Given the description of an element on the screen output the (x, y) to click on. 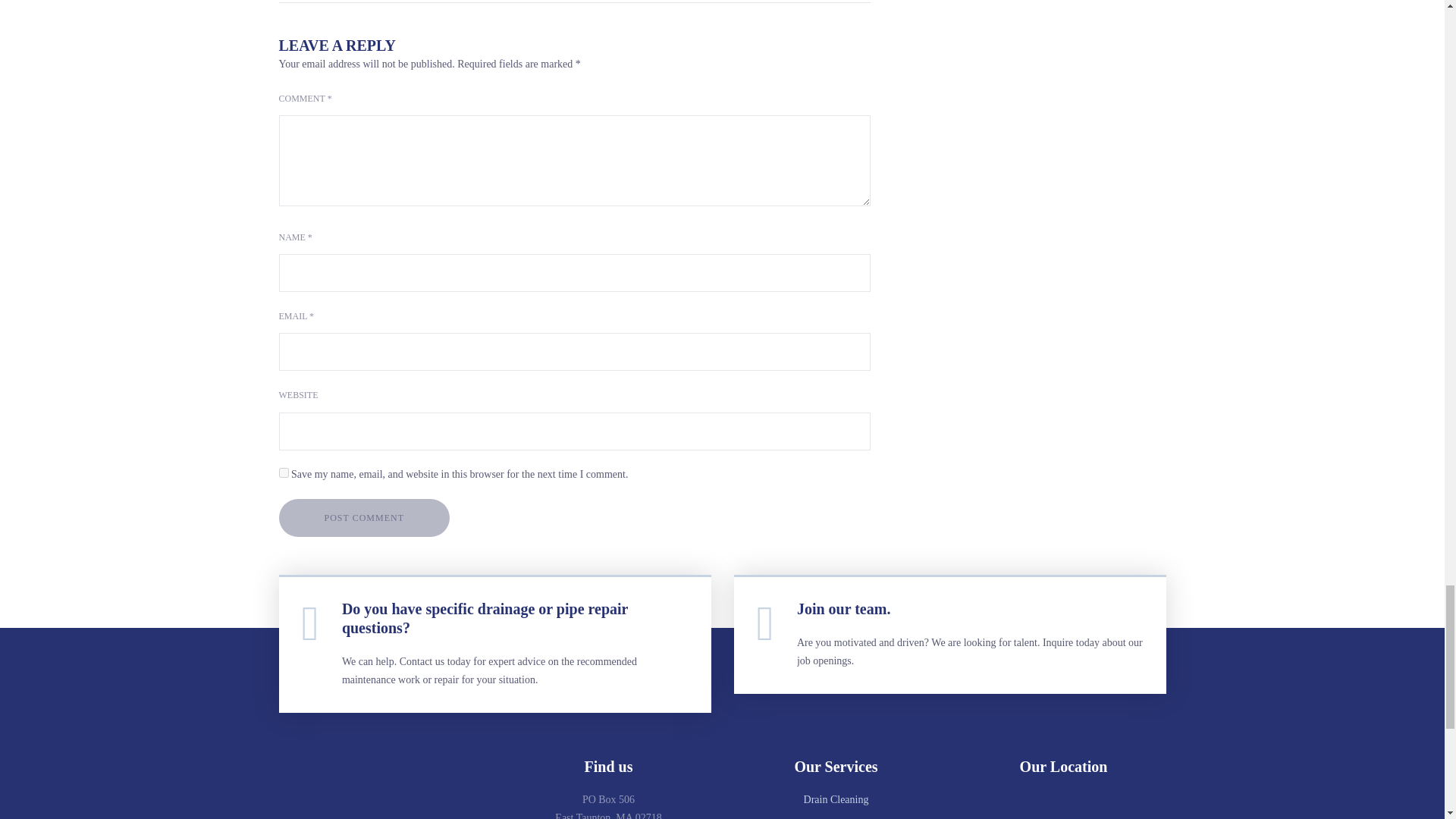
Post Comment (364, 517)
yes (283, 472)
Post Comment (364, 517)
